Given the description of an element on the screen output the (x, y) to click on. 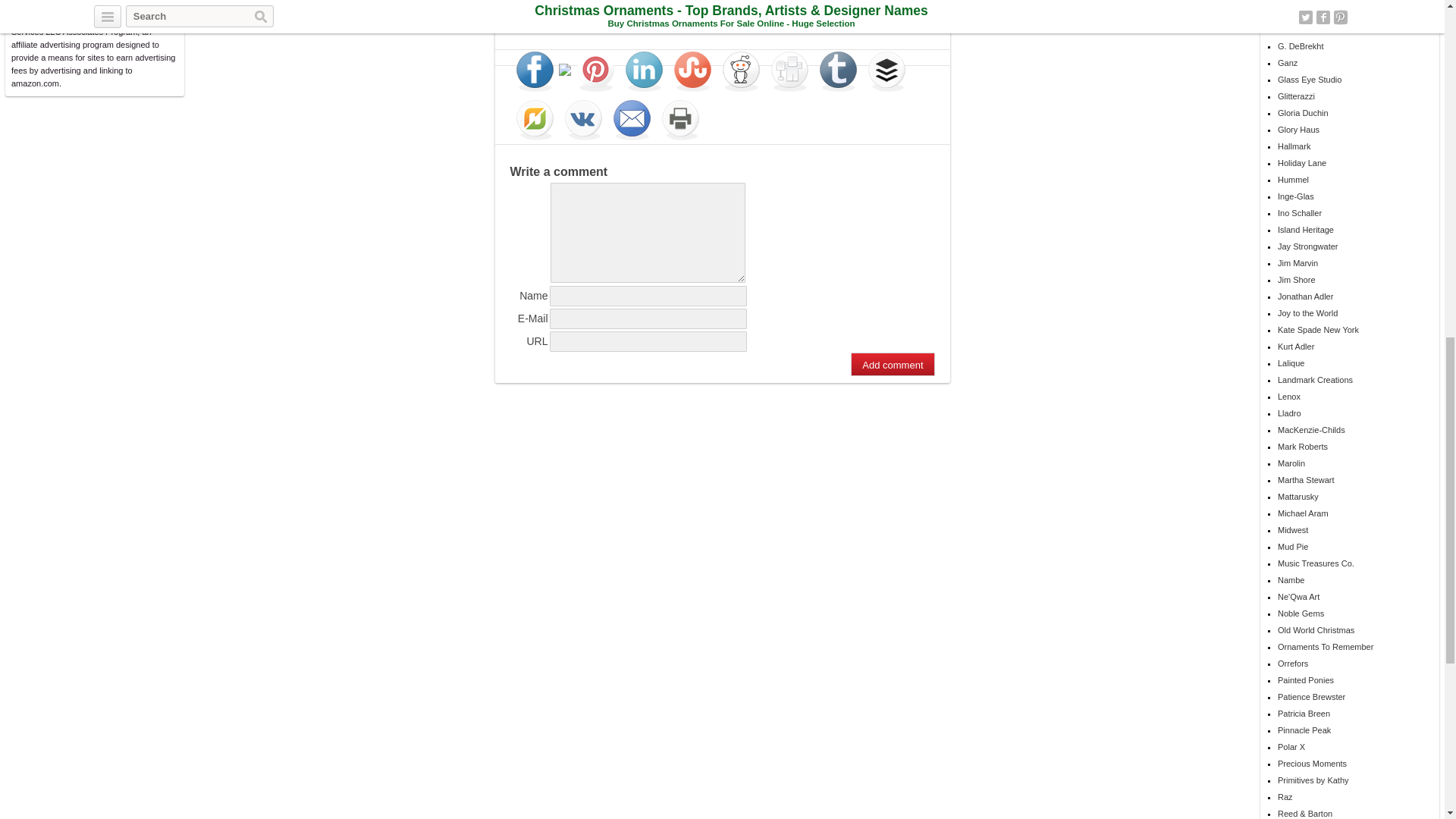
Add comment (892, 363)
